Given the description of an element on the screen output the (x, y) to click on. 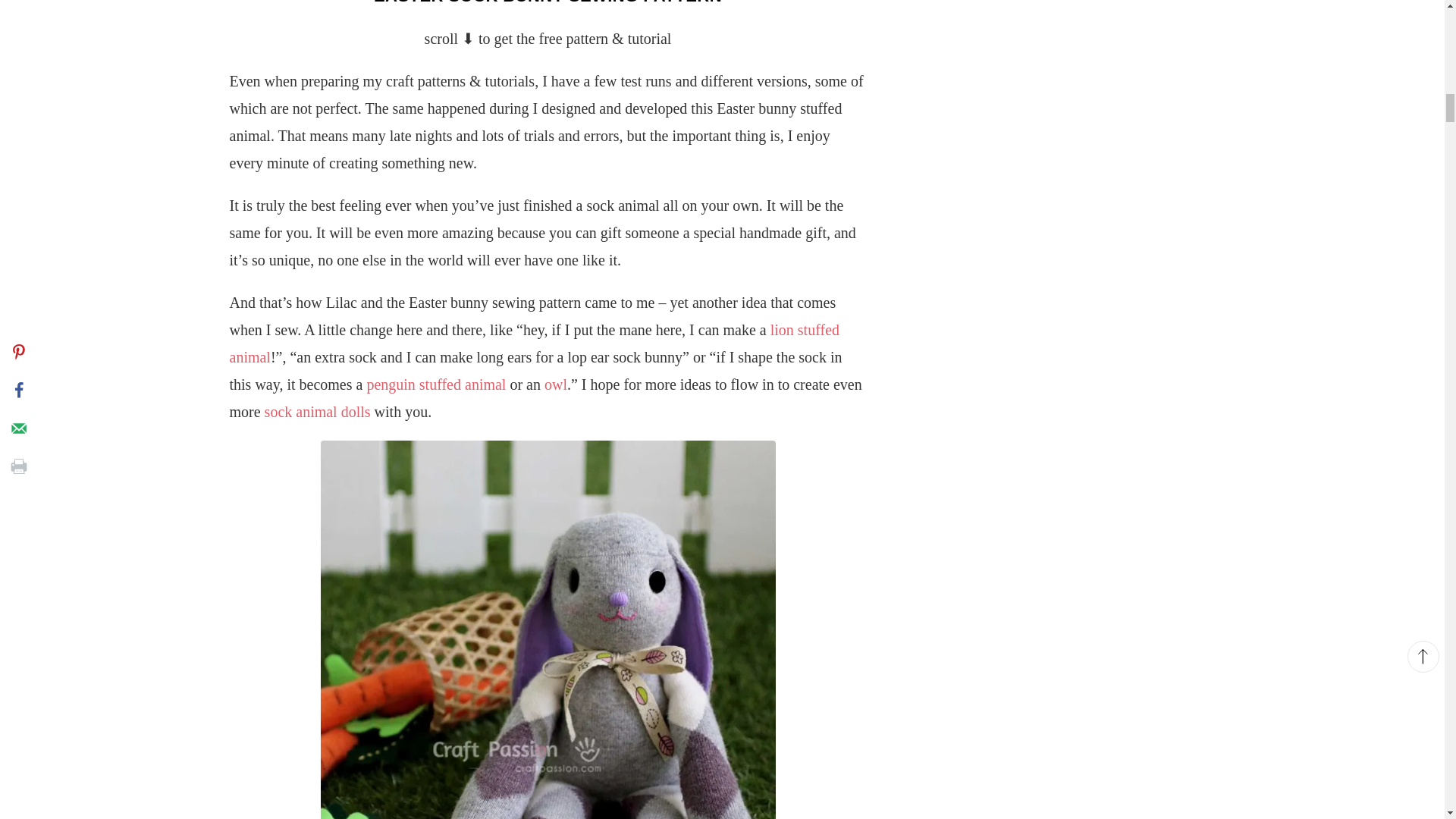
owl (555, 384)
penguin stuffed animal (435, 384)
sock animal dolls (317, 411)
lion stuffed animal (534, 343)
